Given the description of an element on the screen output the (x, y) to click on. 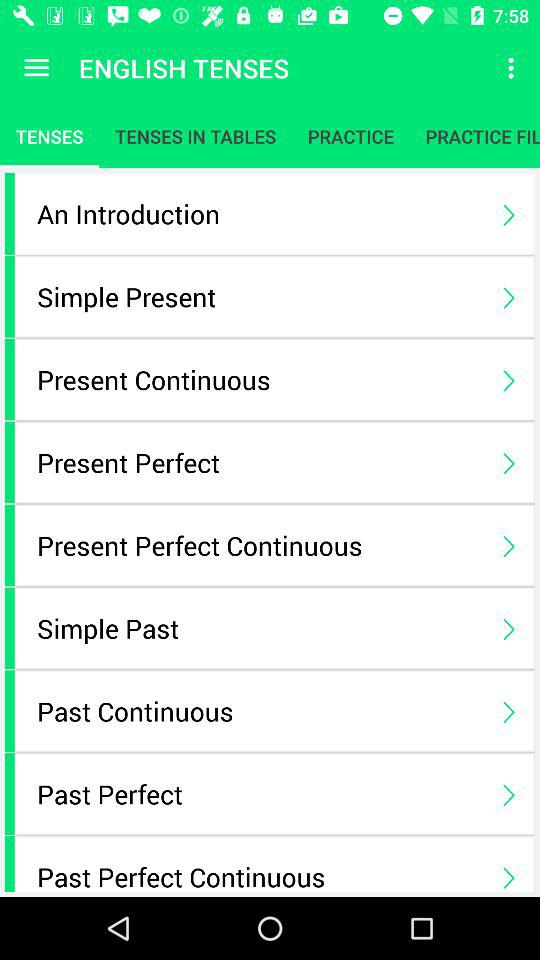
launch an introduction (259, 213)
